Given the description of an element on the screen output the (x, y) to click on. 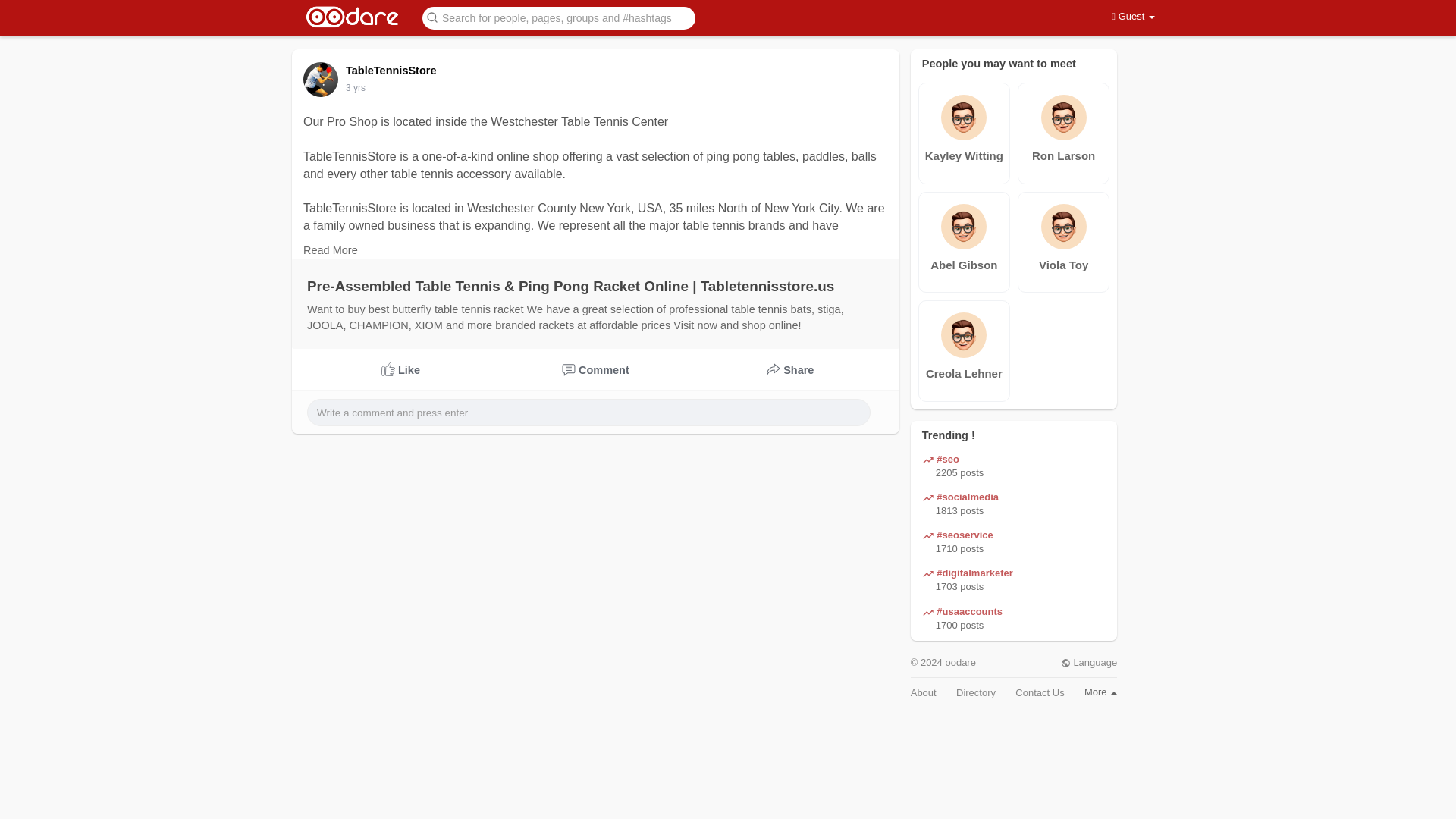
Guest (1132, 17)
Language (1088, 662)
3 yrs (355, 87)
Creola Lehner (964, 373)
Kayley Witting (964, 156)
Viola Toy (1063, 264)
Viola Toy (1063, 265)
Abel Gibson (963, 264)
Ron Larson (1063, 155)
Abel Gibson (964, 265)
Creola Lehner (964, 373)
Read More (330, 250)
Ron Larson (1063, 156)
TableTennisStore (394, 70)
Share (790, 370)
